Given the description of an element on the screen output the (x, y) to click on. 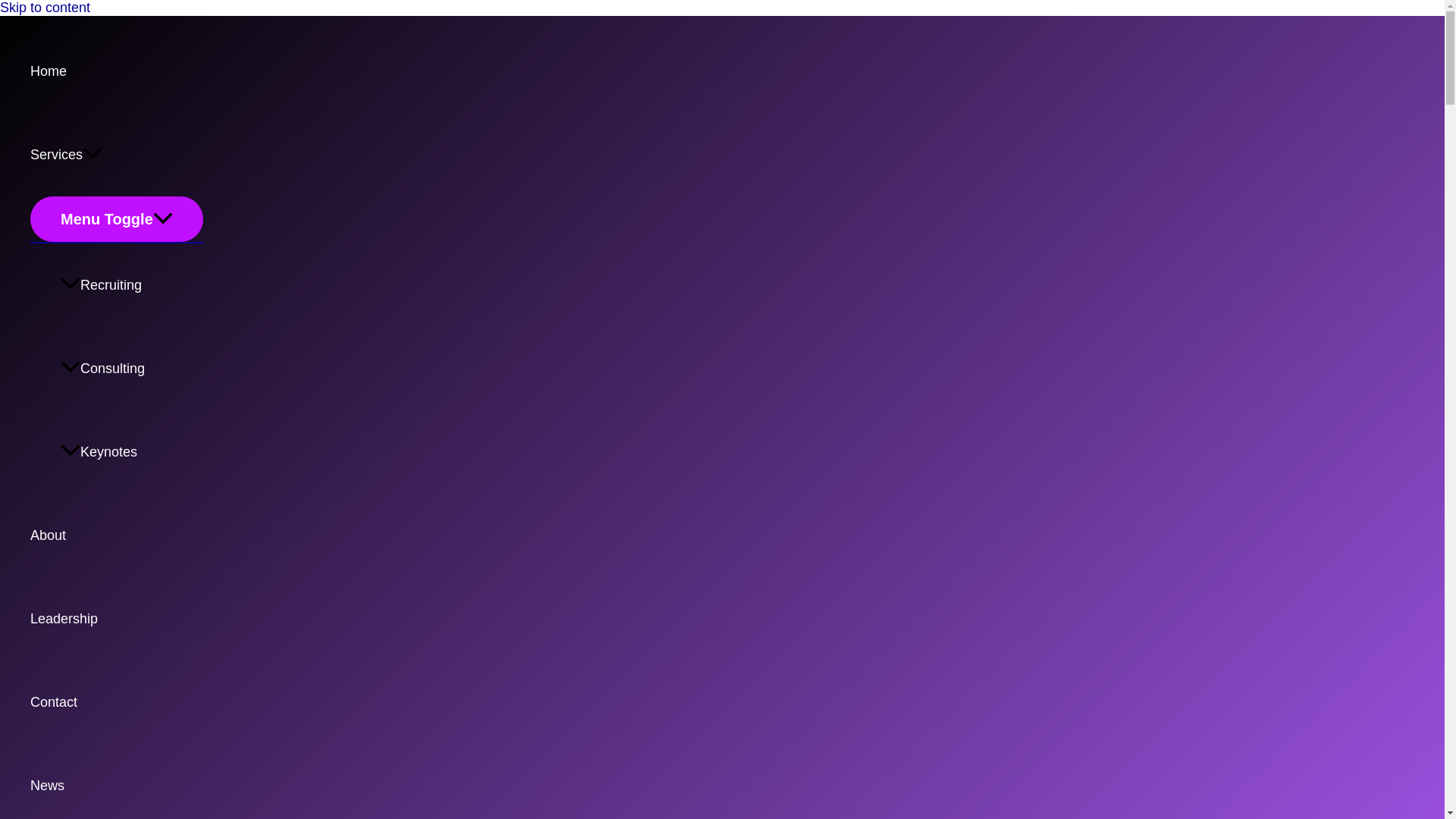
Contact (116, 701)
About (116, 535)
Consulting (132, 368)
Leadership (116, 618)
News (116, 781)
Skip to content (45, 7)
Skip to content (45, 7)
Menu Toggle (116, 218)
Home (116, 71)
Recruiting (132, 284)
